Given the description of an element on the screen output the (x, y) to click on. 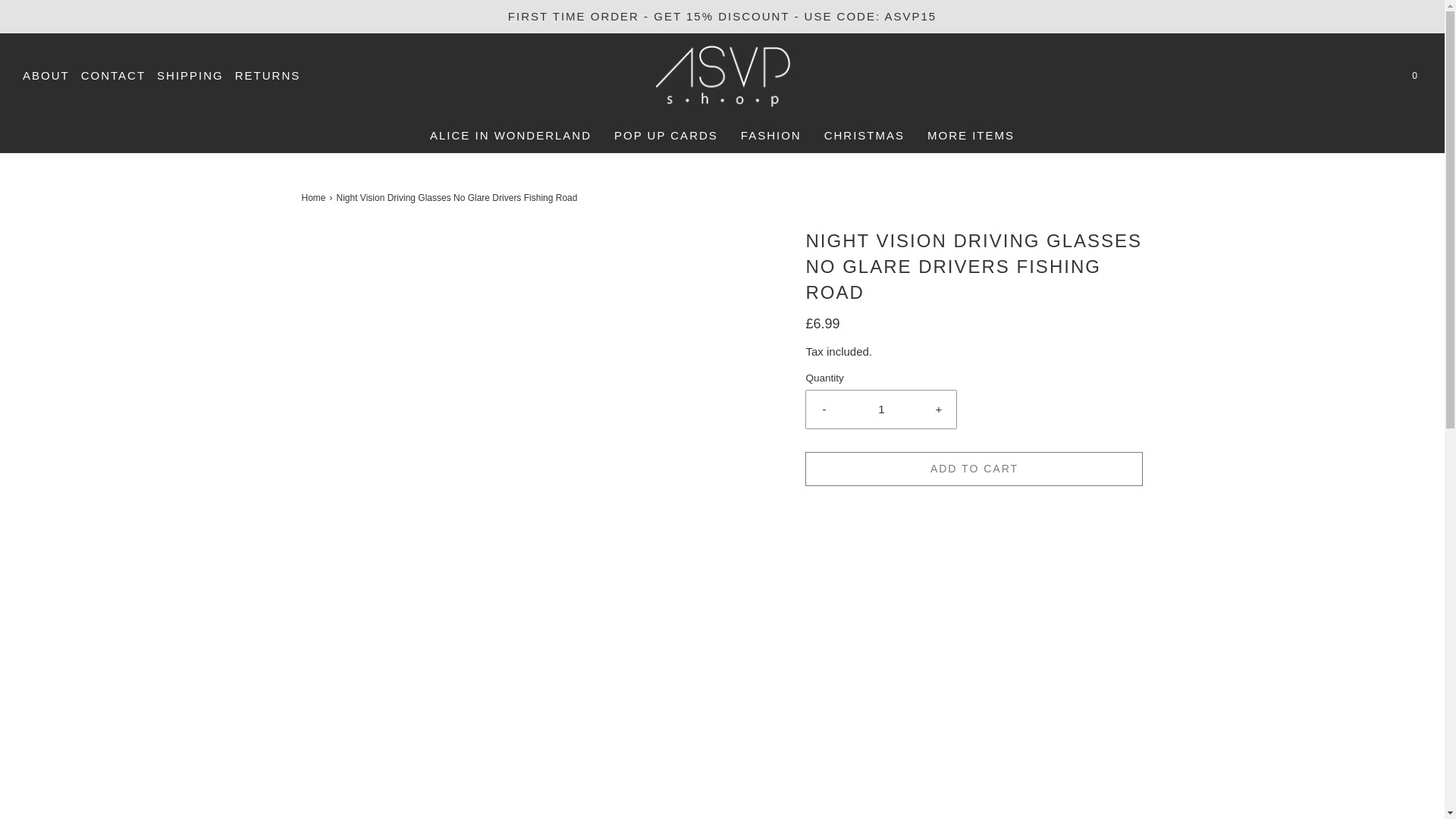
1 (881, 409)
Back to the frontpage (315, 197)
CHRISTMAS (864, 135)
Cart (1413, 75)
ABOUT (46, 75)
CONTACT (113, 75)
FASHION (771, 135)
SHIPPING (190, 75)
MORE ITEMS (970, 135)
ALICE IN WONDERLAND (510, 135)
POP UP CARDS (665, 135)
RETURNS (267, 75)
0 (1413, 75)
